Given the description of an element on the screen output the (x, y) to click on. 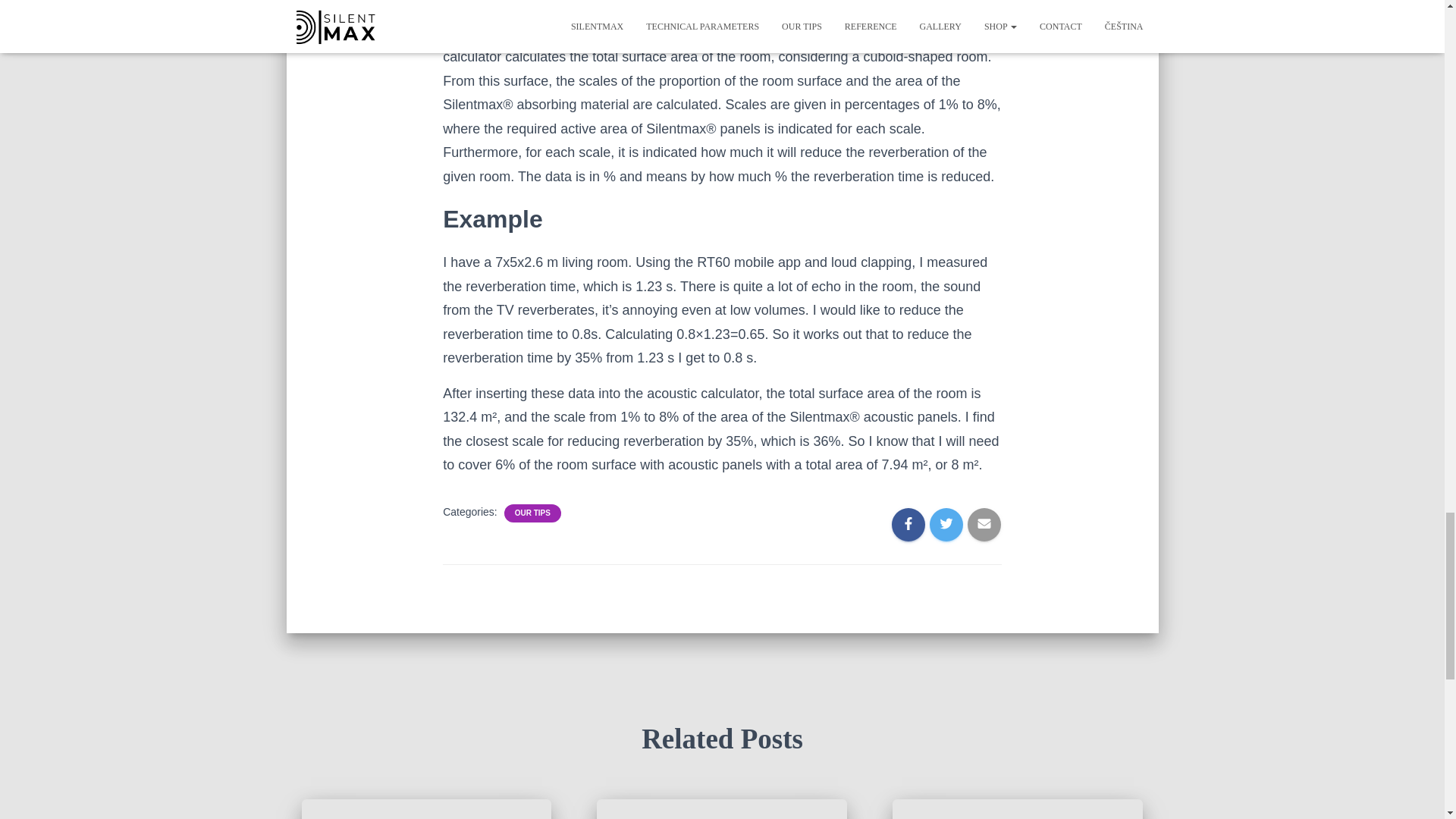
OUR TIPS (532, 512)
